Given the description of an element on the screen output the (x, y) to click on. 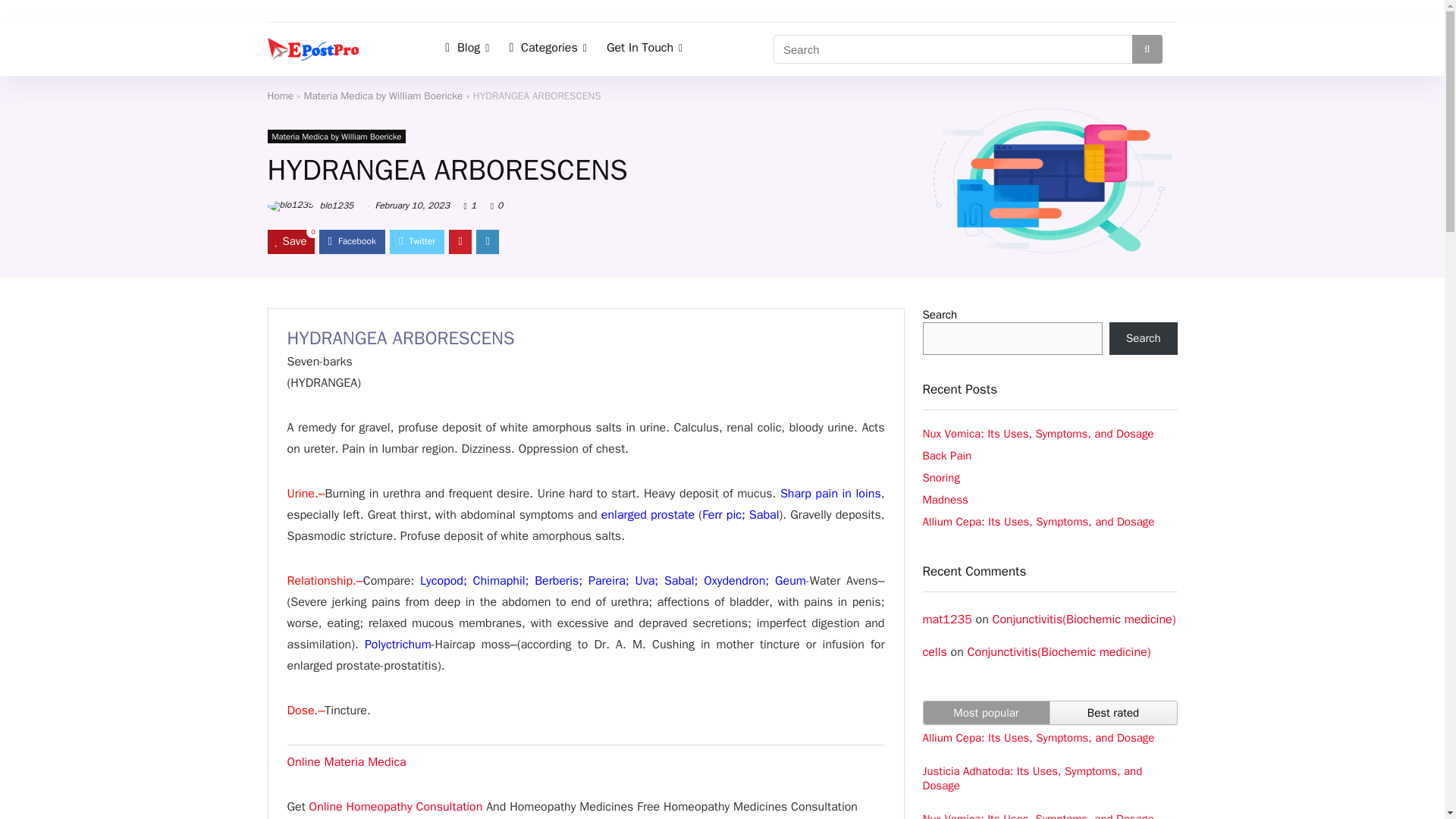
Get In Touch (644, 49)
Categories (547, 49)
Blog (467, 49)
View all posts in Materia Medica by William Boericke (336, 136)
